Given the description of an element on the screen output the (x, y) to click on. 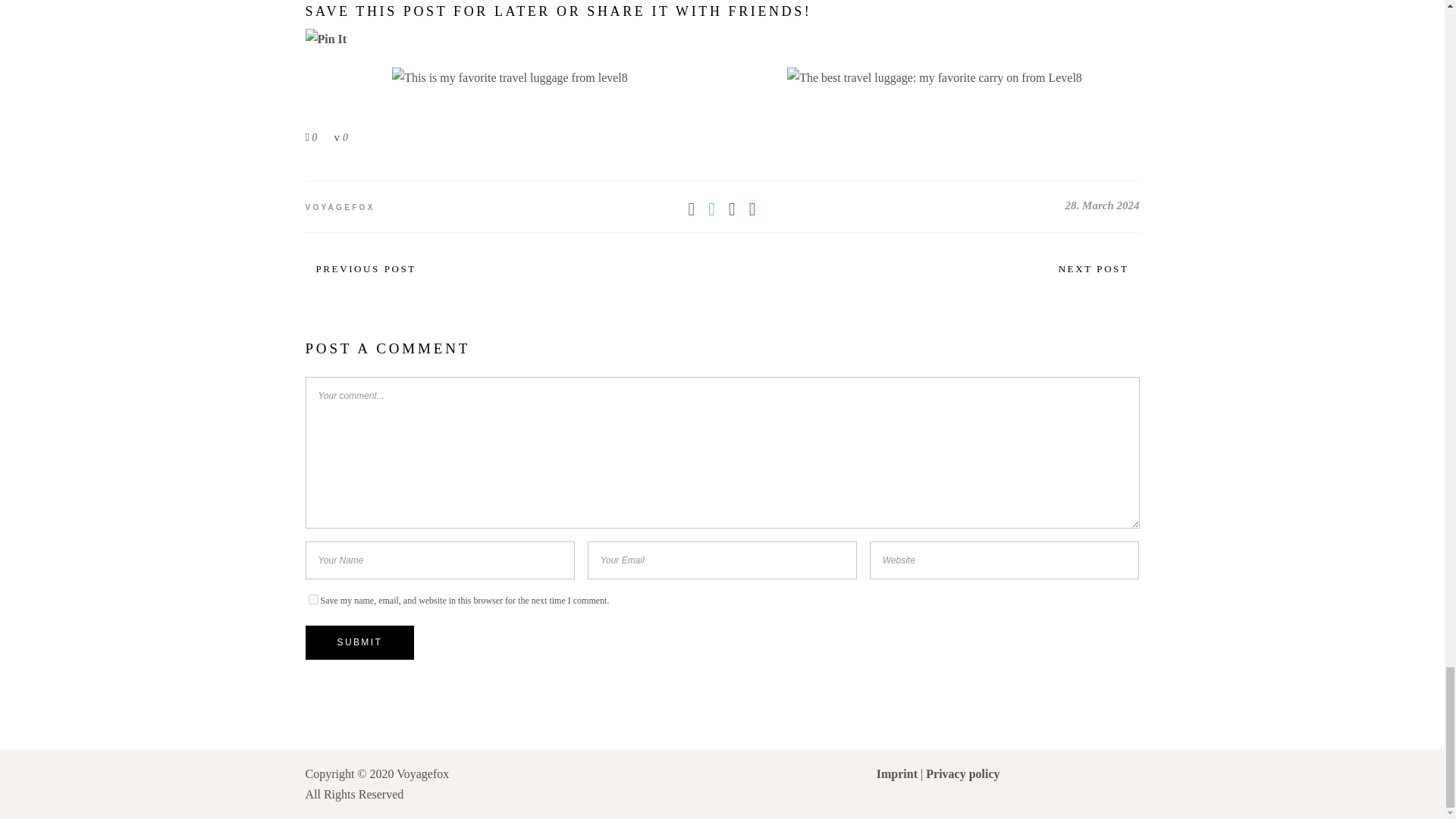
Pin It (325, 38)
Submit (358, 642)
yes (312, 599)
Like this (310, 137)
